Given the description of an element on the screen output the (x, y) to click on. 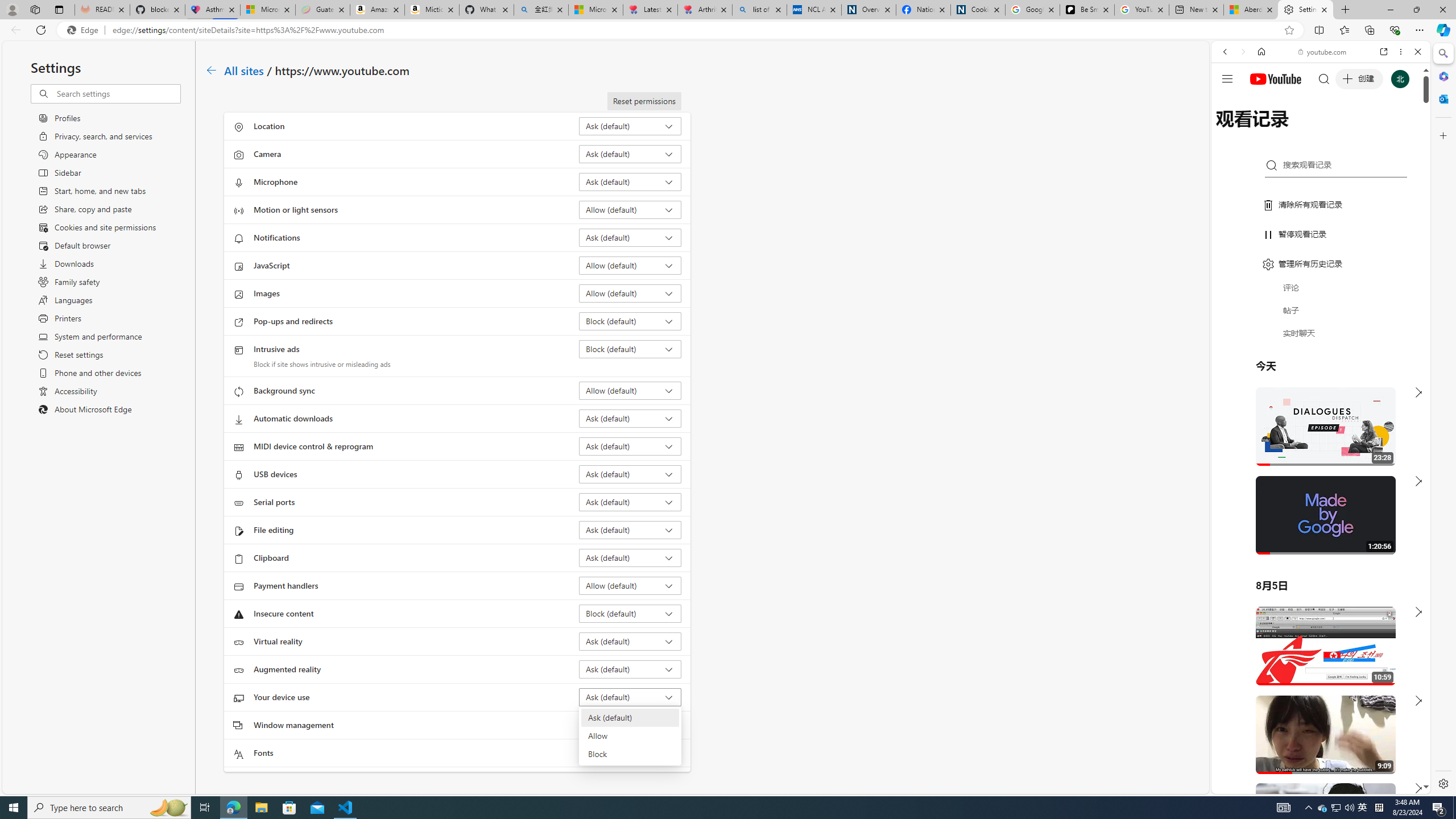
Allow (629, 736)
Show More Music (1390, 310)
